Given the description of an element on the screen output the (x, y) to click on. 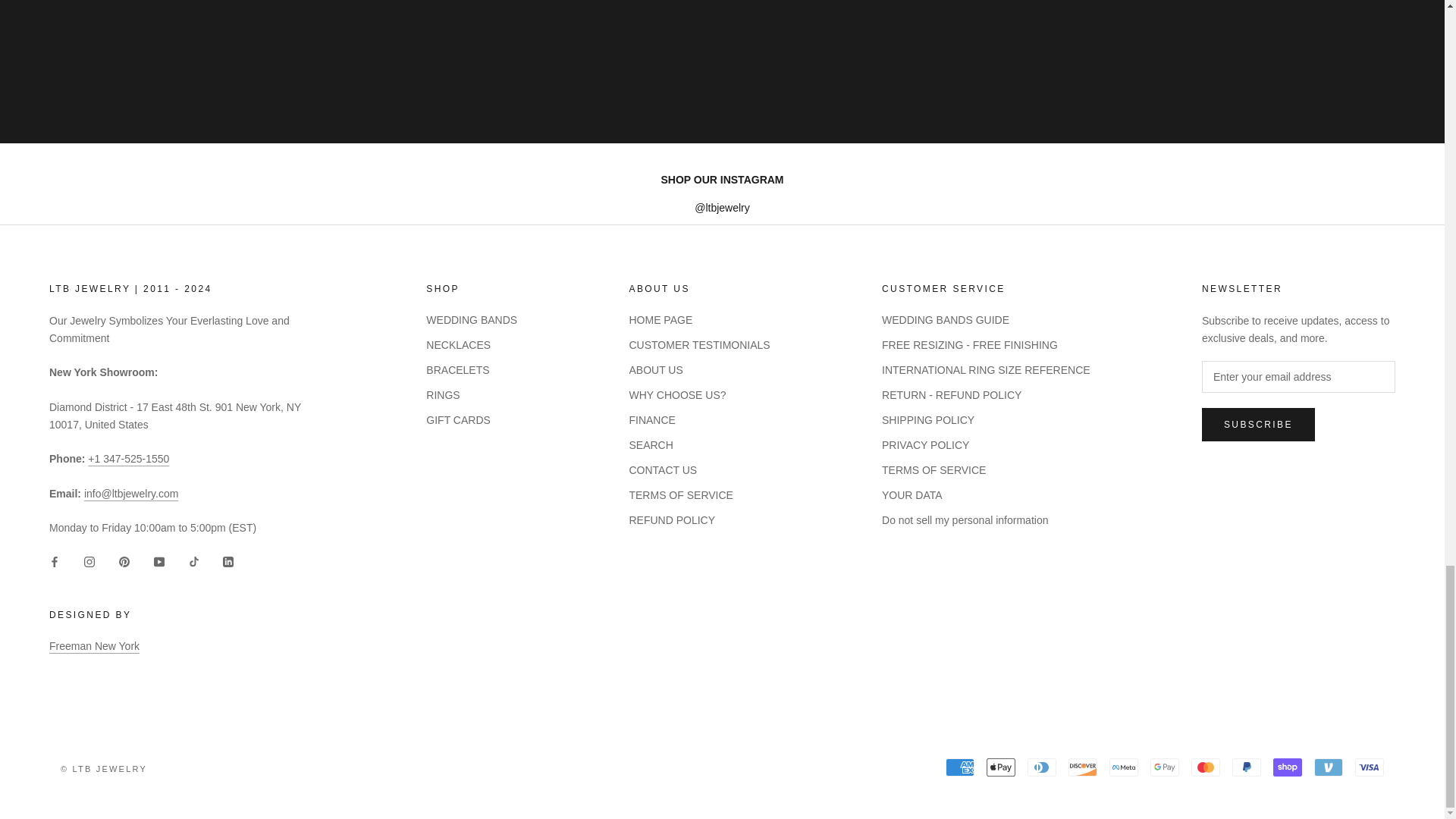
Meta Pay (1123, 767)
Apple Pay (1000, 767)
Diners Club (1042, 767)
American Express (959, 767)
Discover (1082, 767)
Google Pay (1164, 767)
Mastercard (1205, 767)
